Given the description of an element on the screen output the (x, y) to click on. 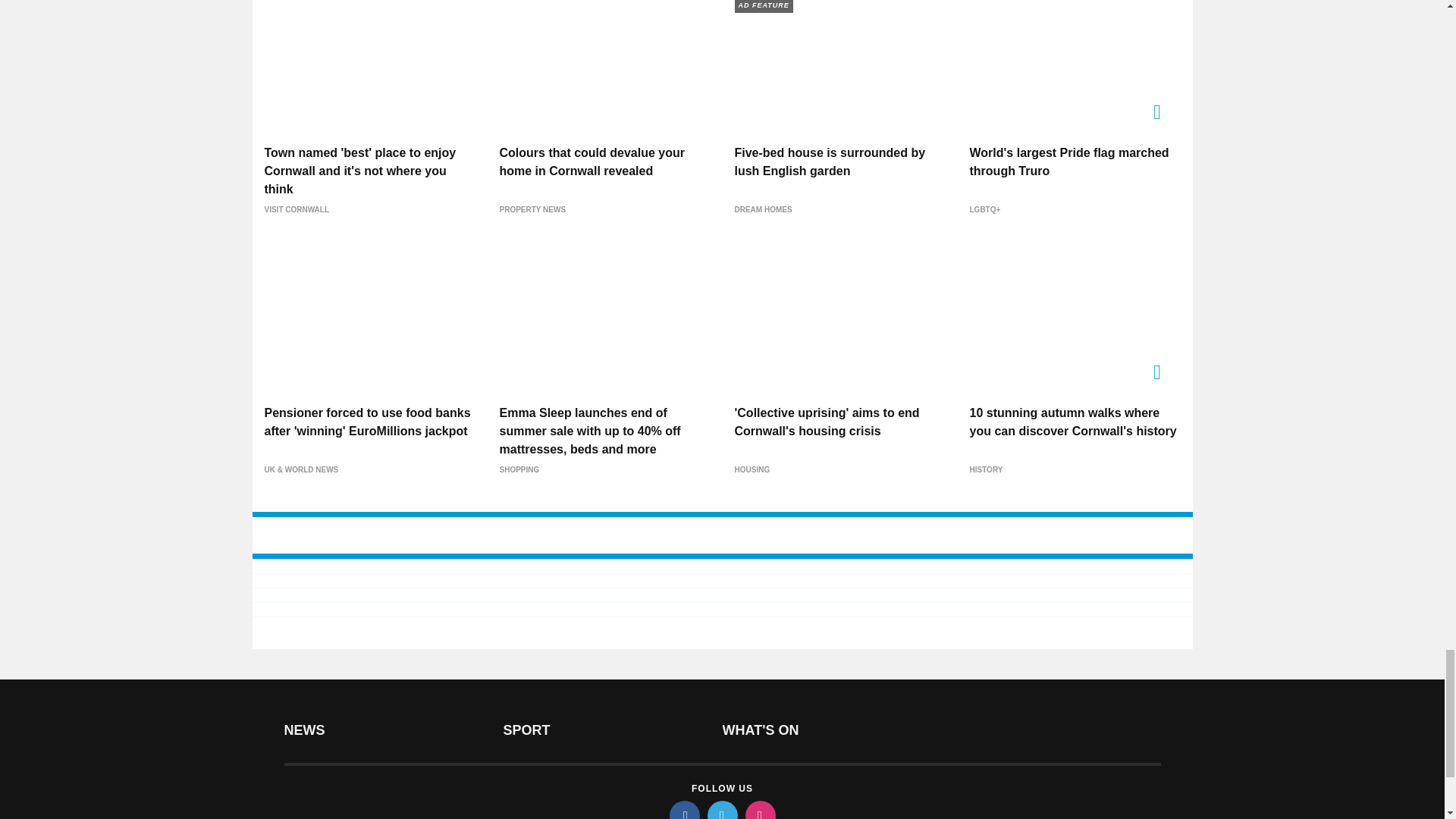
facebook (683, 809)
instagram (759, 809)
twitter (721, 809)
